Given the description of an element on the screen output the (x, y) to click on. 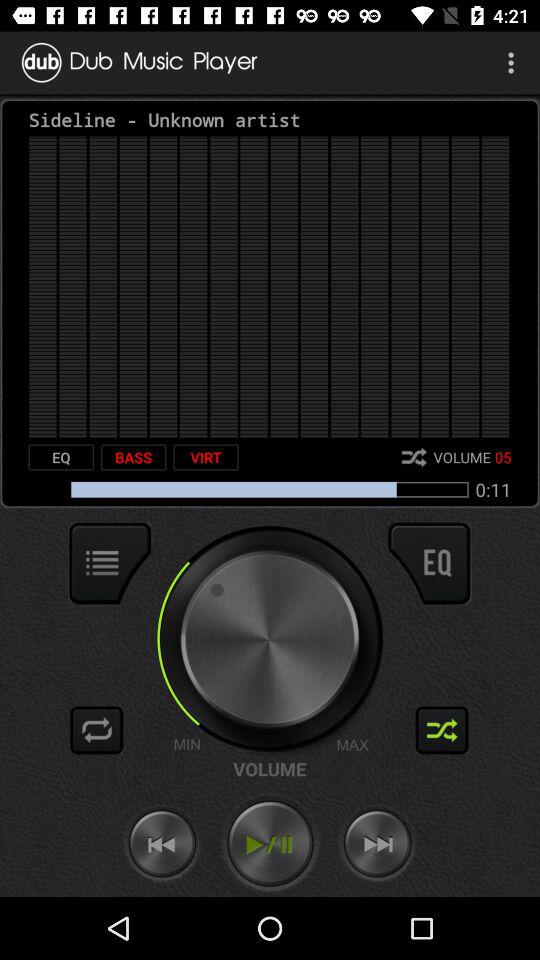
this is a used to music player (269, 844)
